Given the description of an element on the screen output the (x, y) to click on. 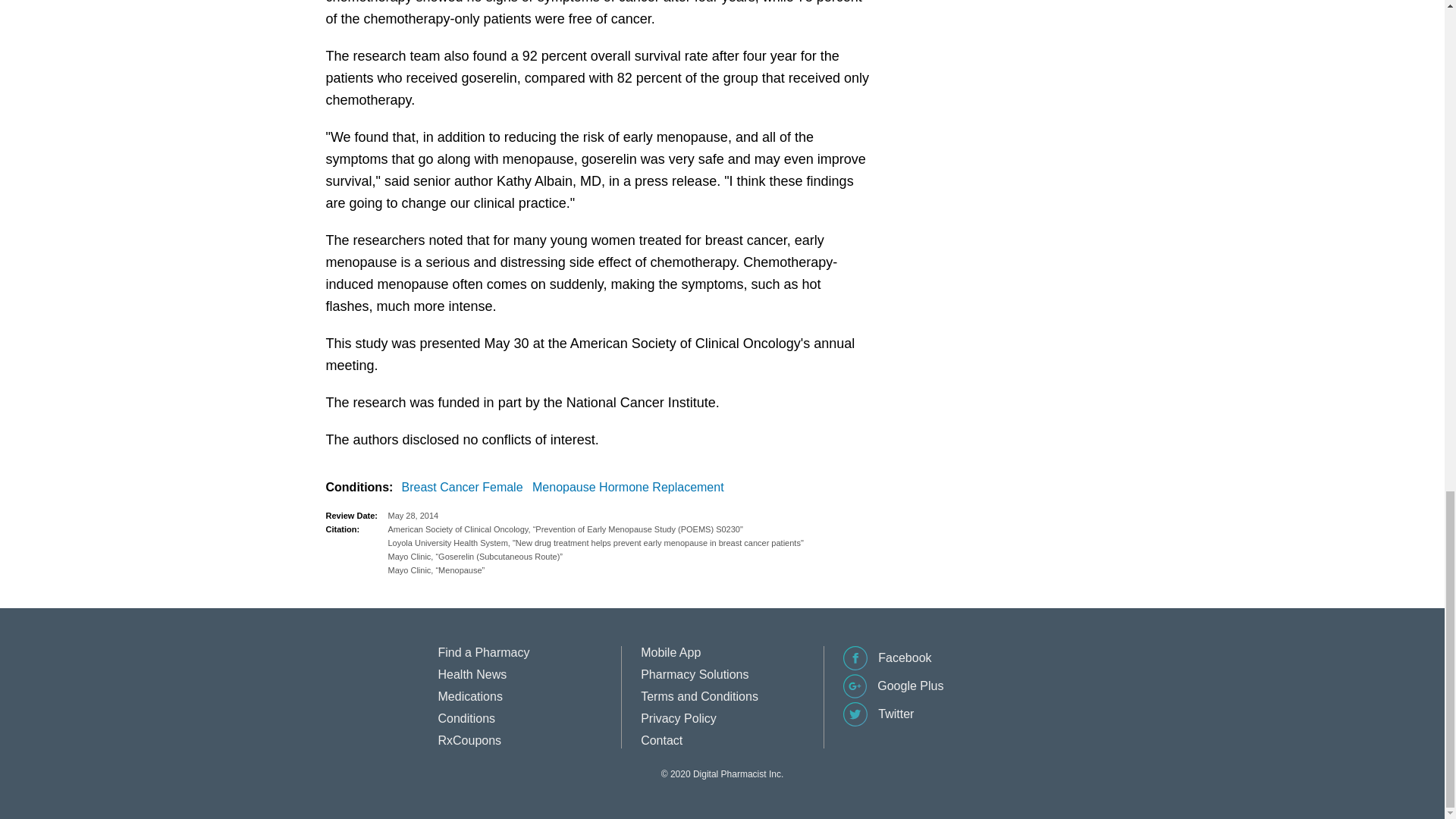
Breast Cancer Female (465, 487)
Menopause Hormone Replacement (631, 487)
